Given the description of an element on the screen output the (x, y) to click on. 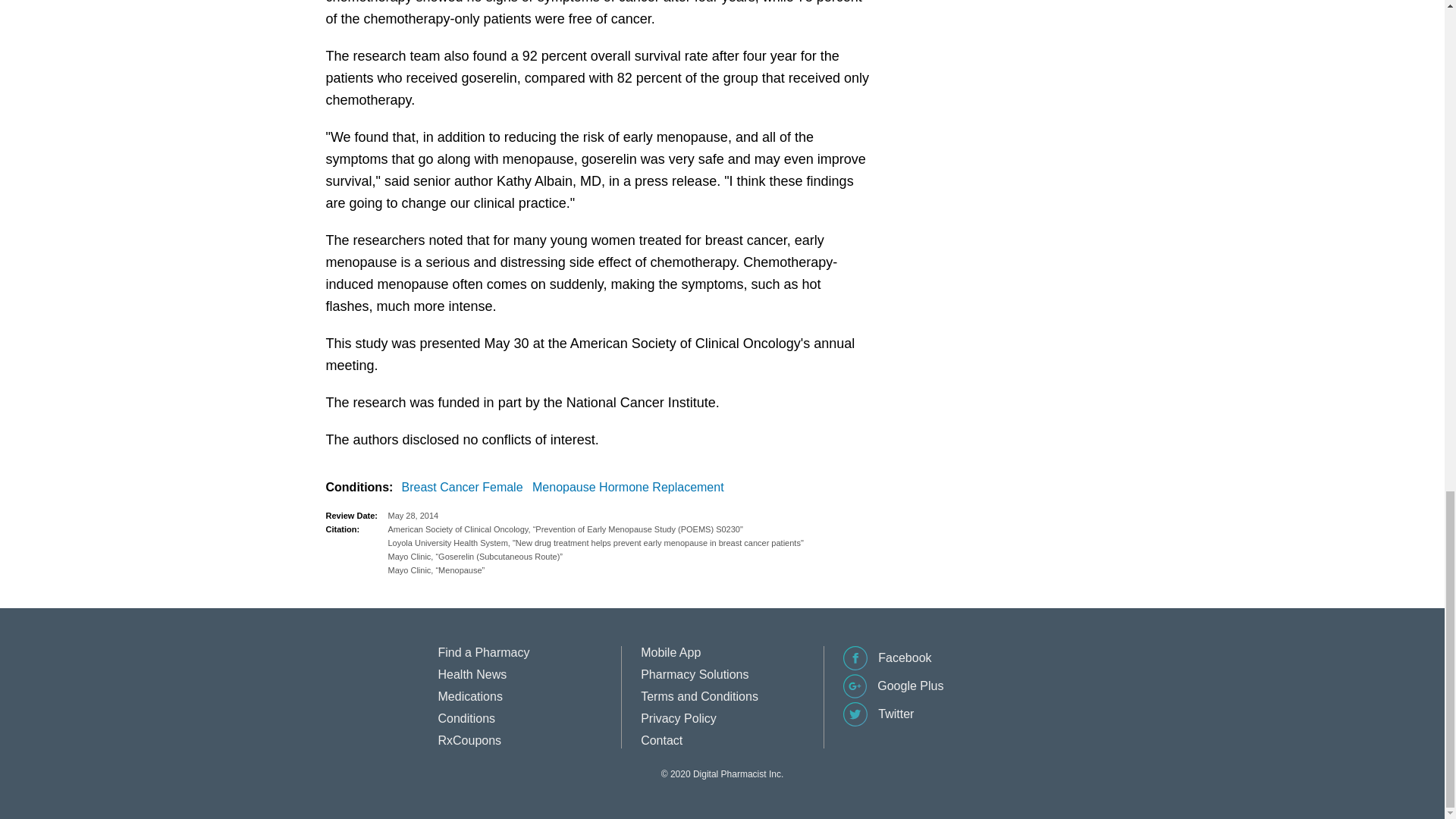
Breast Cancer Female (465, 487)
Menopause Hormone Replacement (631, 487)
